Given the description of an element on the screen output the (x, y) to click on. 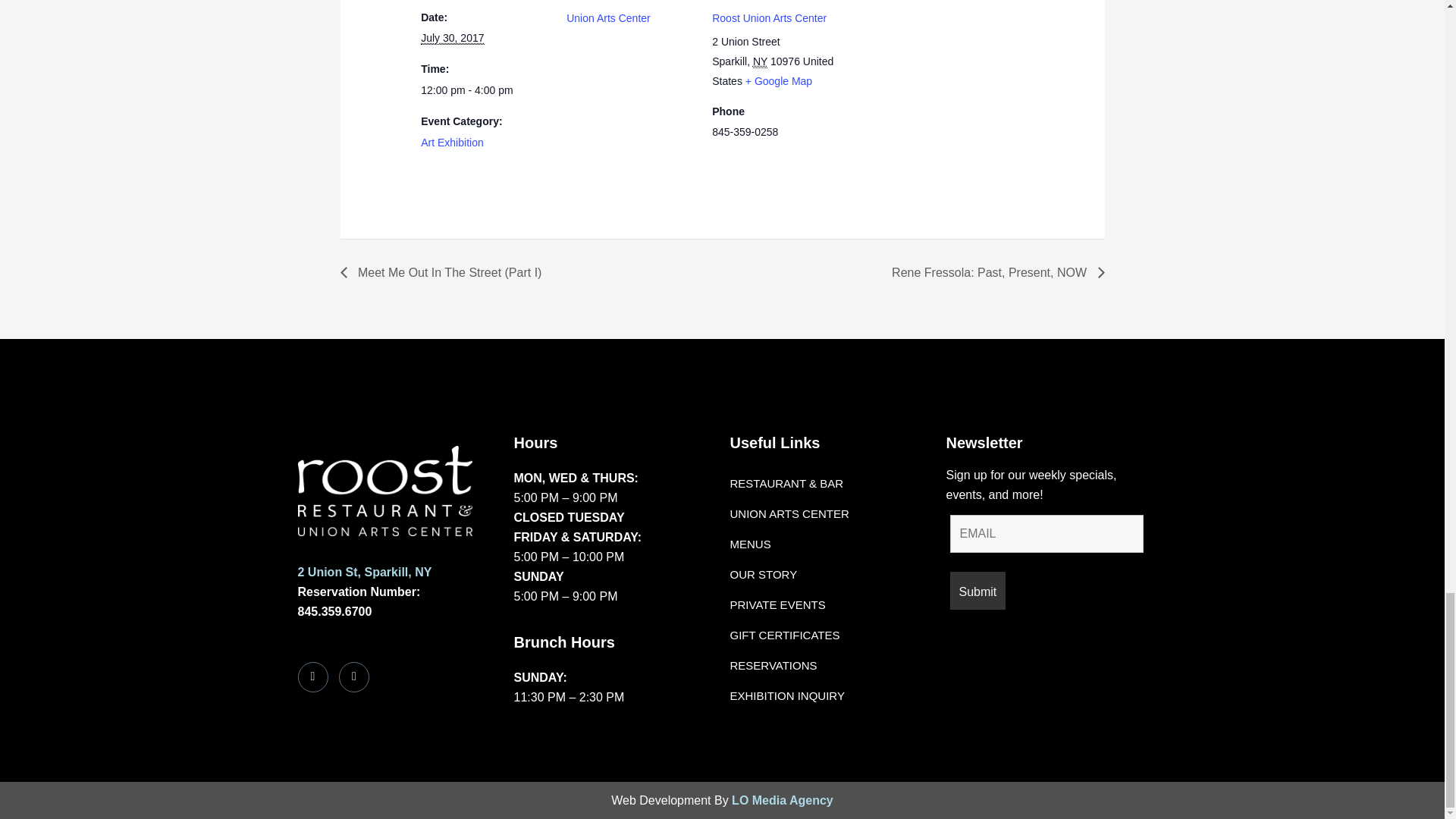
Submit (977, 590)
2017-07-30 (451, 38)
Union Arts Center (608, 18)
New York (759, 61)
Click to view a Google Map (778, 80)
2017-07-30 (484, 90)
